Given the description of an element on the screen output the (x, y) to click on. 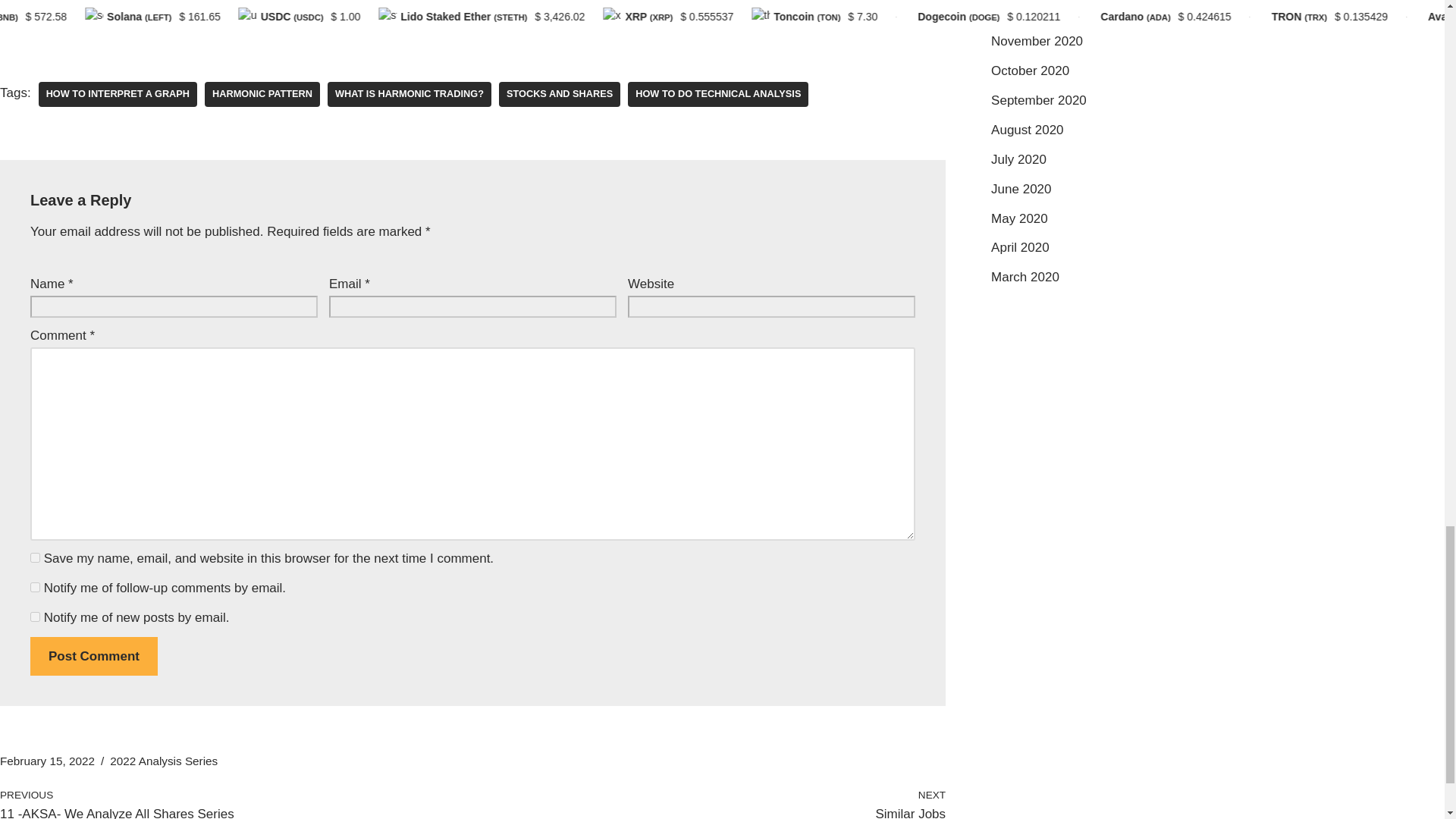
subscribe (35, 616)
Post Comment (93, 656)
yes (35, 557)
subscribe (35, 587)
